Given the description of an element on the screen output the (x, y) to click on. 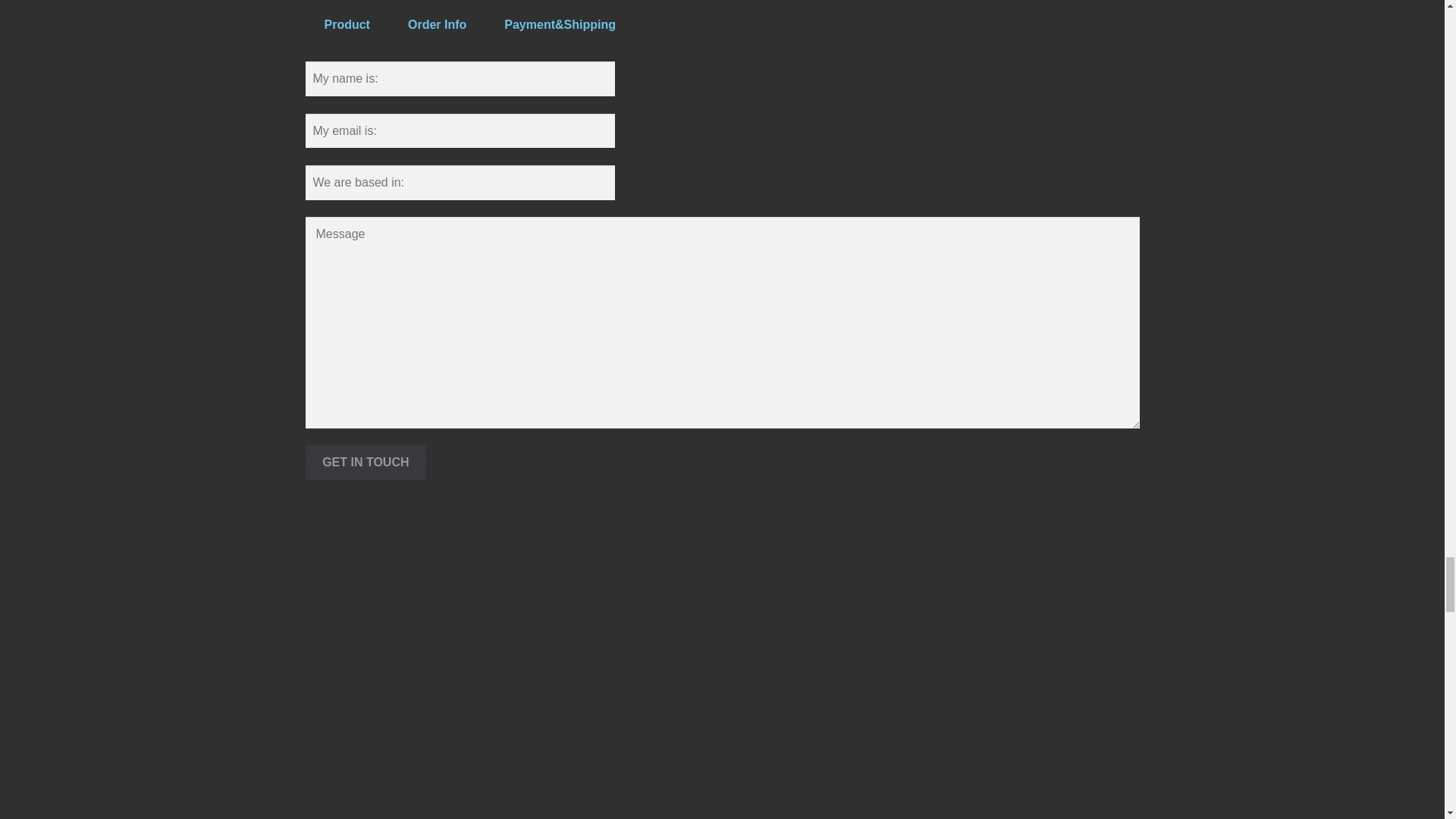
Order Info (436, 24)
GET IN TOUCH (365, 462)
Product (346, 24)
GET IN TOUCH (365, 462)
